Given the description of an element on the screen output the (x, y) to click on. 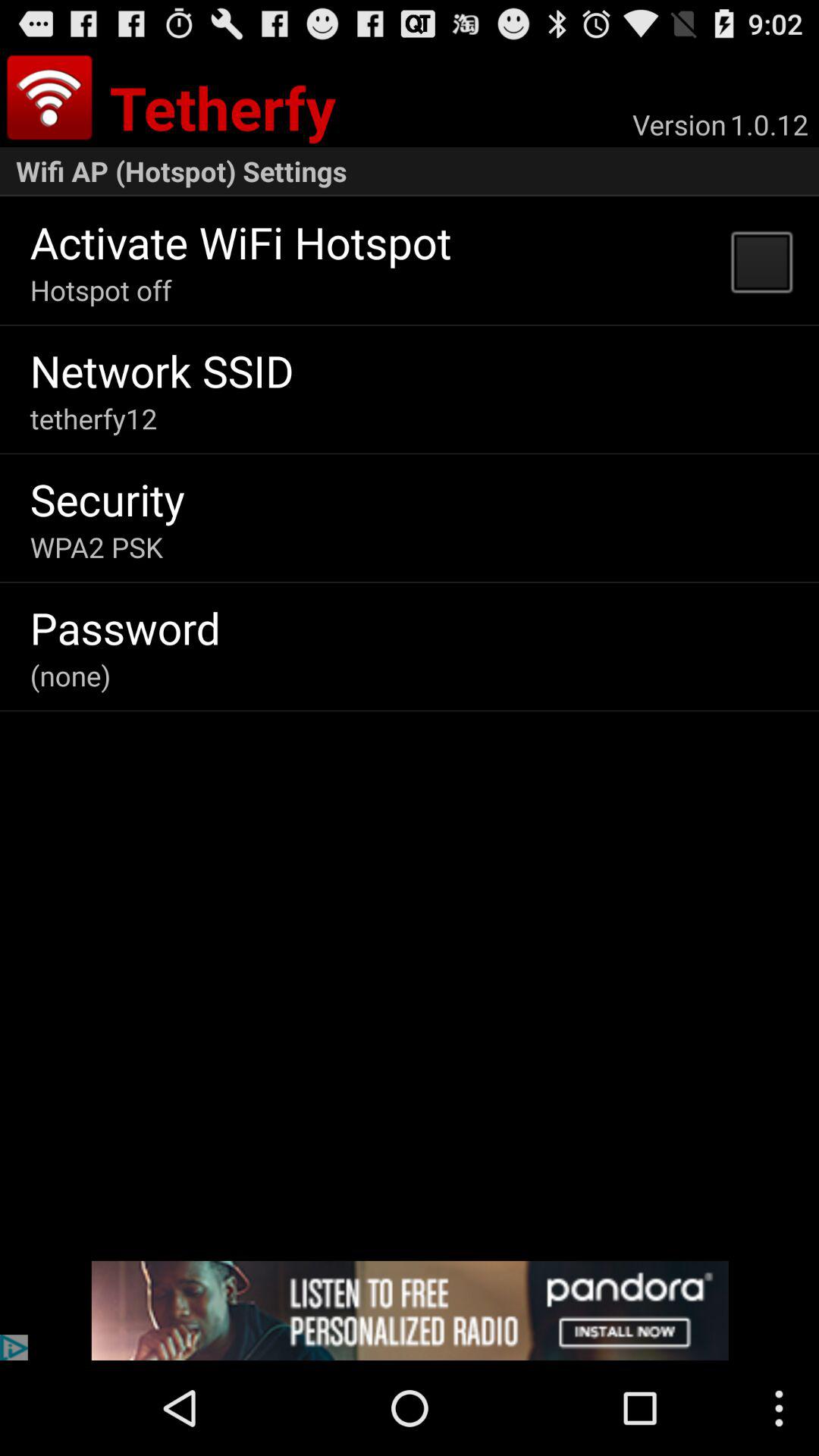
launch (none) (70, 675)
